Given the description of an element on the screen output the (x, y) to click on. 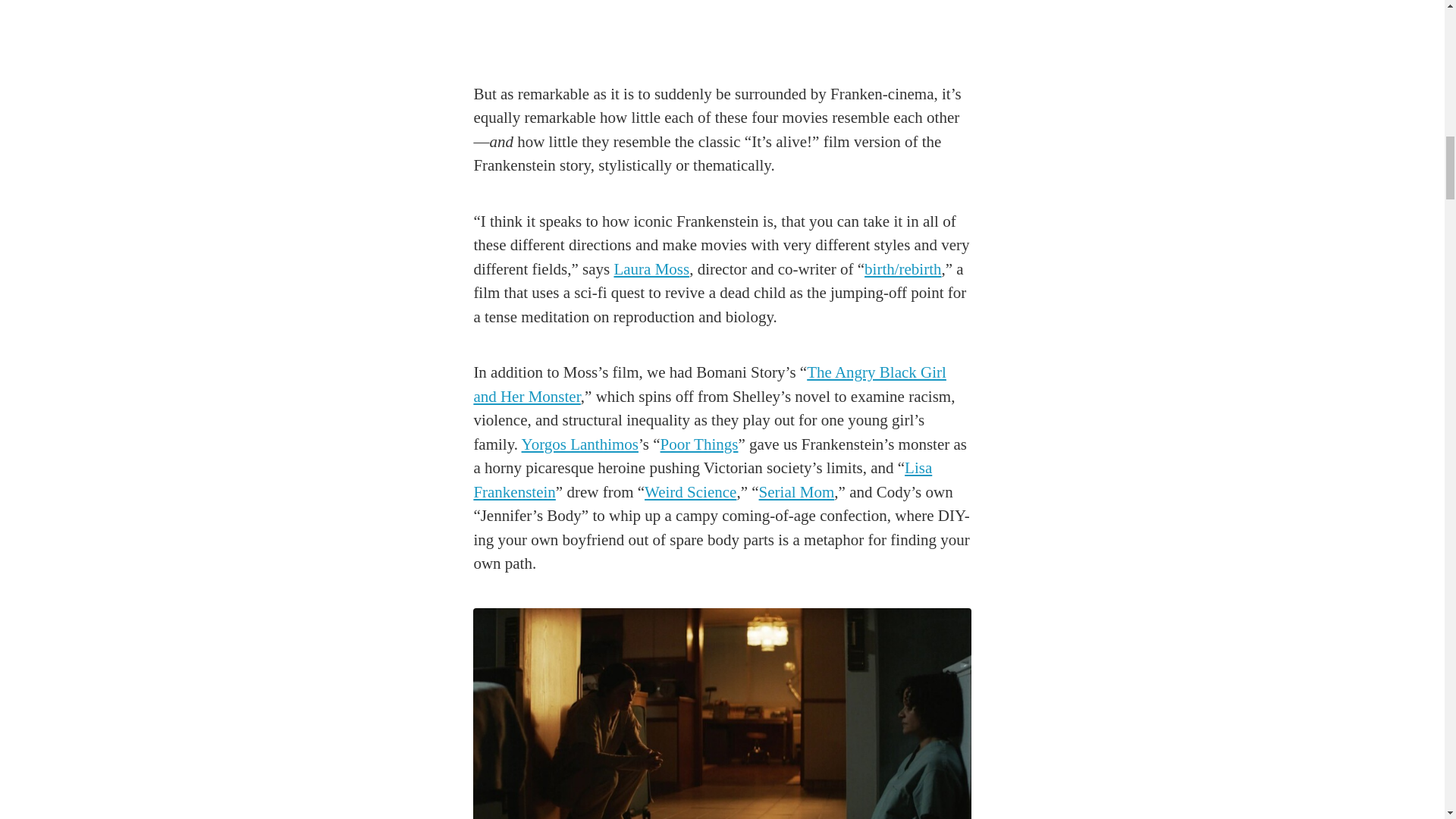
Poor Things (699, 443)
Serial Mom (796, 491)
Yorgos Lanthimos (580, 443)
Laura Moss (650, 268)
Lisa Frankenstein (702, 479)
The Angry Black Girl and Her Monster (709, 384)
Weird Science (690, 491)
